Given the description of an element on the screen output the (x, y) to click on. 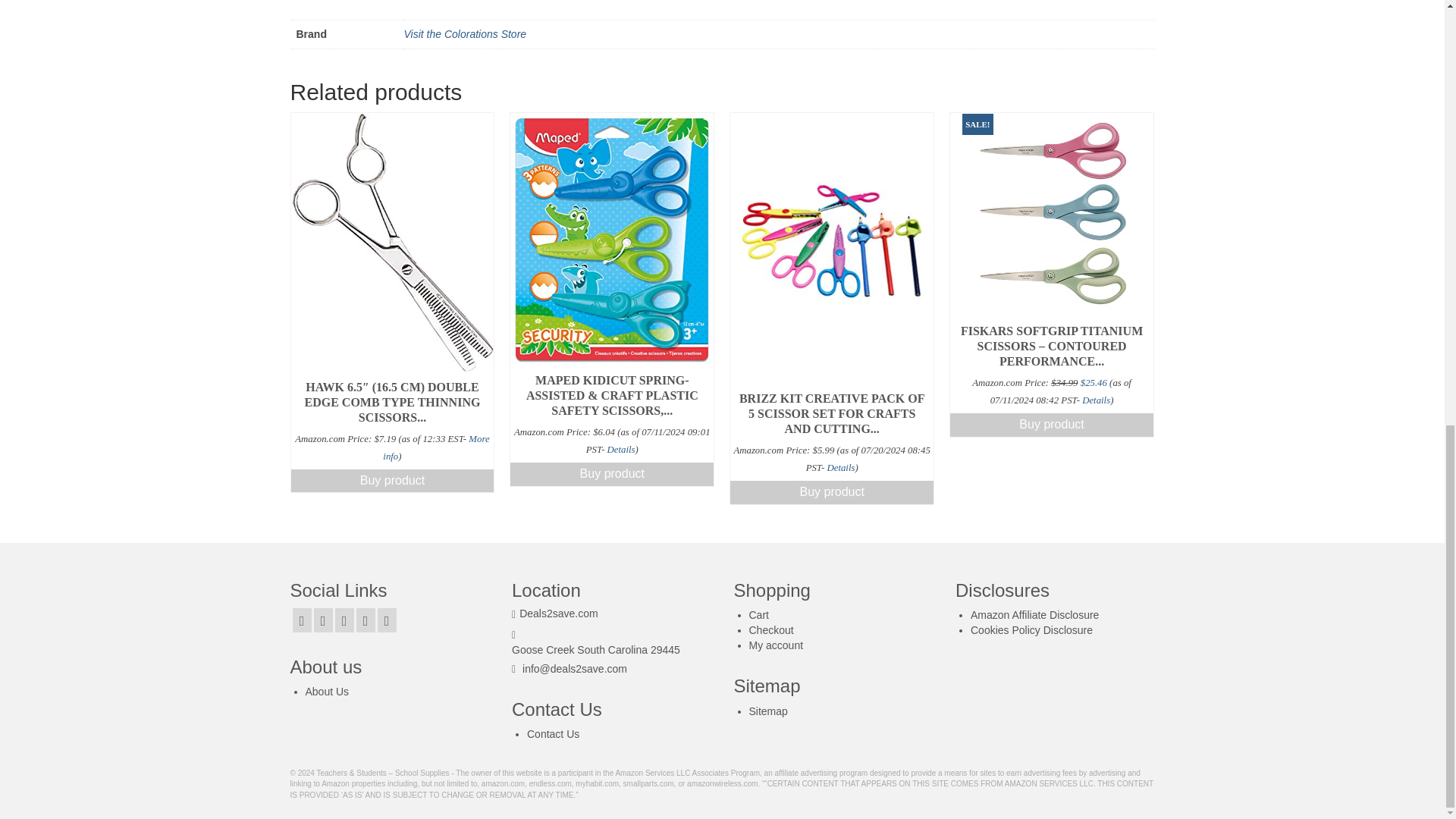
Buy product (831, 492)
X formerly Twitter (323, 619)
Details (620, 449)
About Us (326, 691)
Tumblr (386, 619)
My account (776, 645)
Visit the Colorations Store (464, 33)
Buy product (393, 481)
Details (1095, 399)
Contact Us (553, 734)
Cart (758, 614)
SALE! (1051, 214)
Pinterest (343, 619)
Facebook (301, 619)
